Given the description of an element on the screen output the (x, y) to click on. 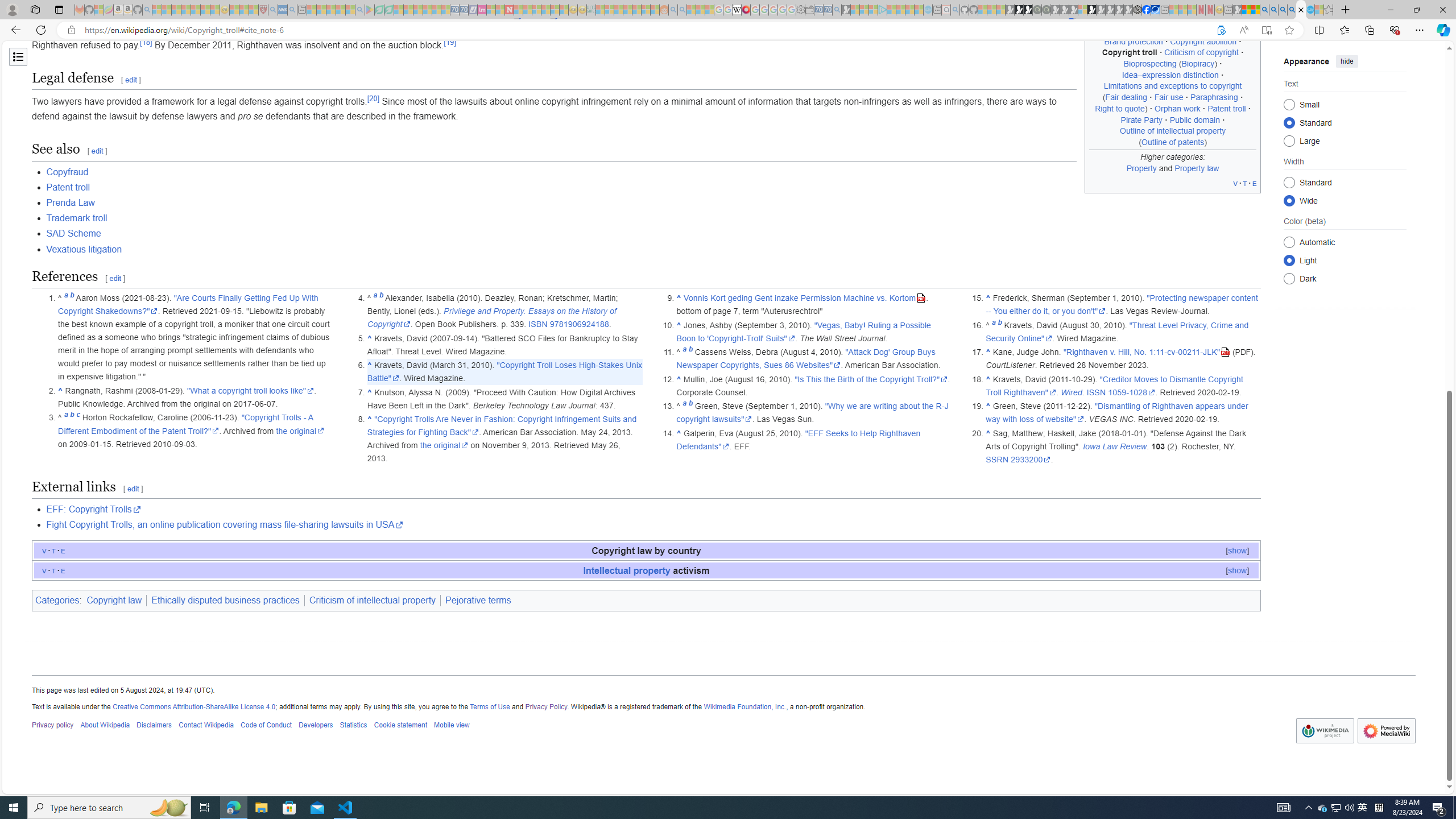
Outline of patents (1172, 141)
Cookie statement (400, 725)
Wikimedia Foundation (1325, 730)
Property (1141, 167)
"What a copyright troll looks like" (250, 390)
1059-1028 (1132, 392)
